Given the description of an element on the screen output the (x, y) to click on. 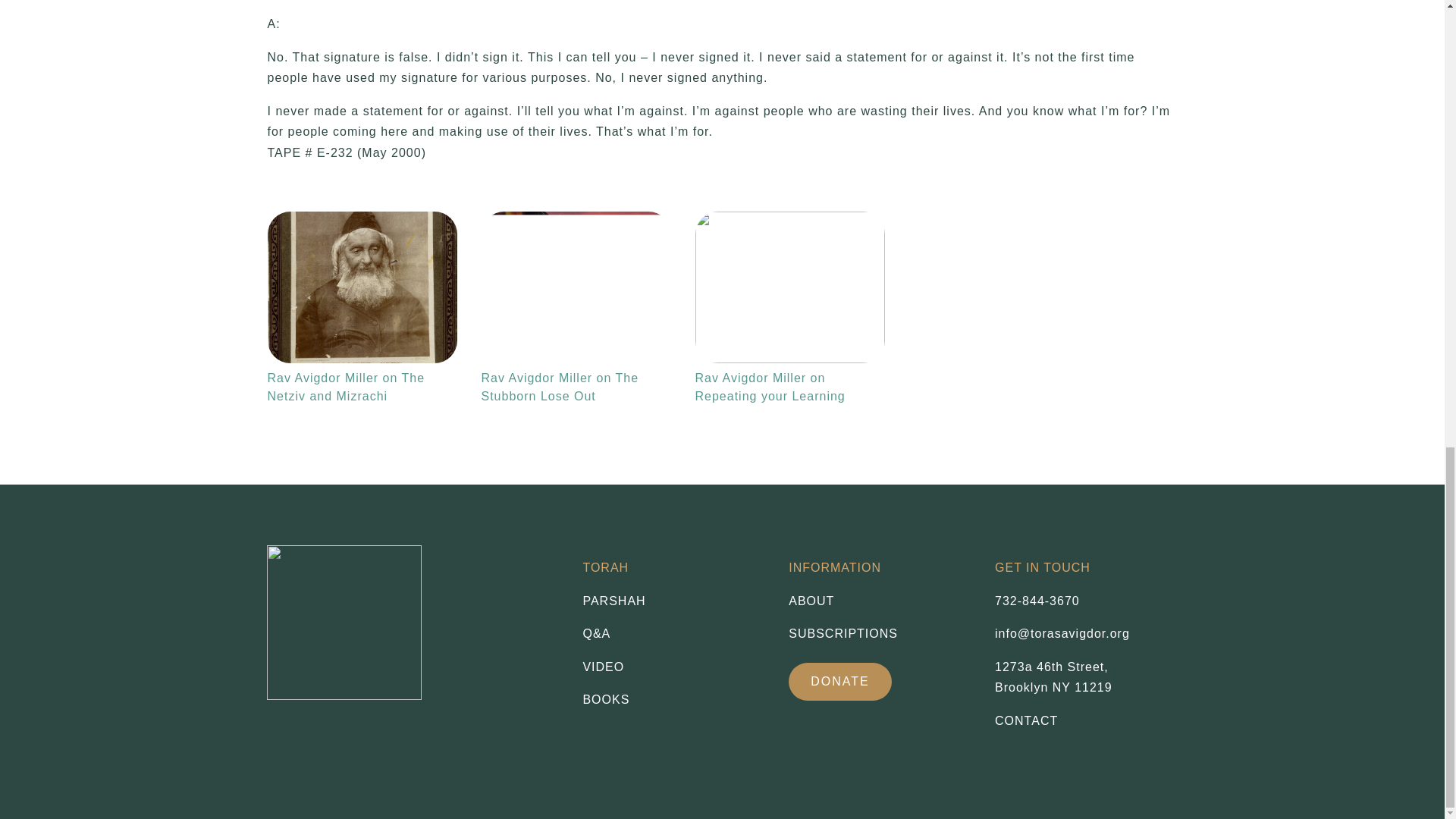
BOOKS (673, 699)
SUBSCRIPTIONS (880, 633)
Rav Avigdor Miller on The Stubborn Lose Out (574, 287)
732-844-3670 (1037, 600)
Rav Avigdor Miller on The Netziv and Mizrachi (361, 287)
VIDEO (673, 667)
footer-img (344, 622)
Rav Avigdor Miller on Repeating your Learning (788, 287)
DONATE (1053, 677)
PARSHAH (840, 681)
ABOUT (673, 600)
